Given the description of an element on the screen output the (x, y) to click on. 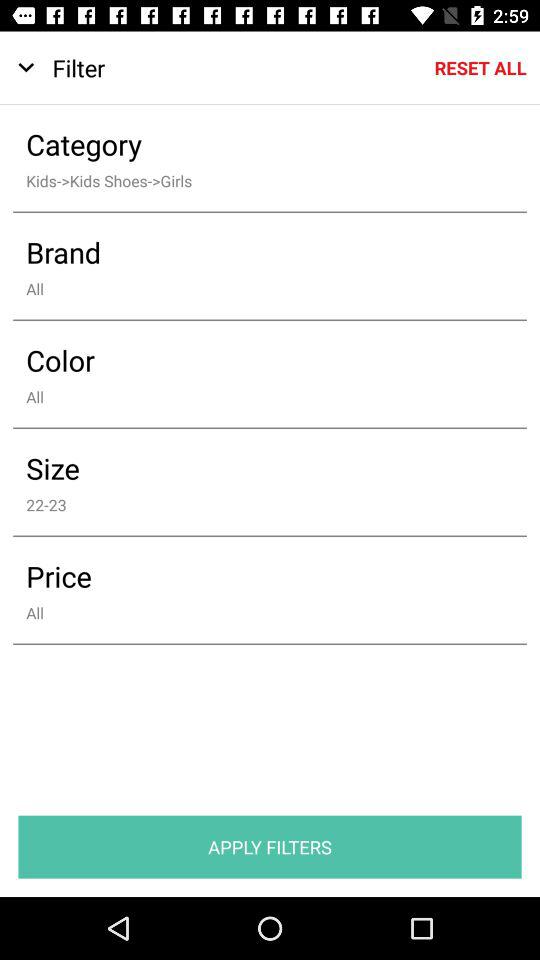
select icon below the all item (269, 846)
